Given the description of an element on the screen output the (x, y) to click on. 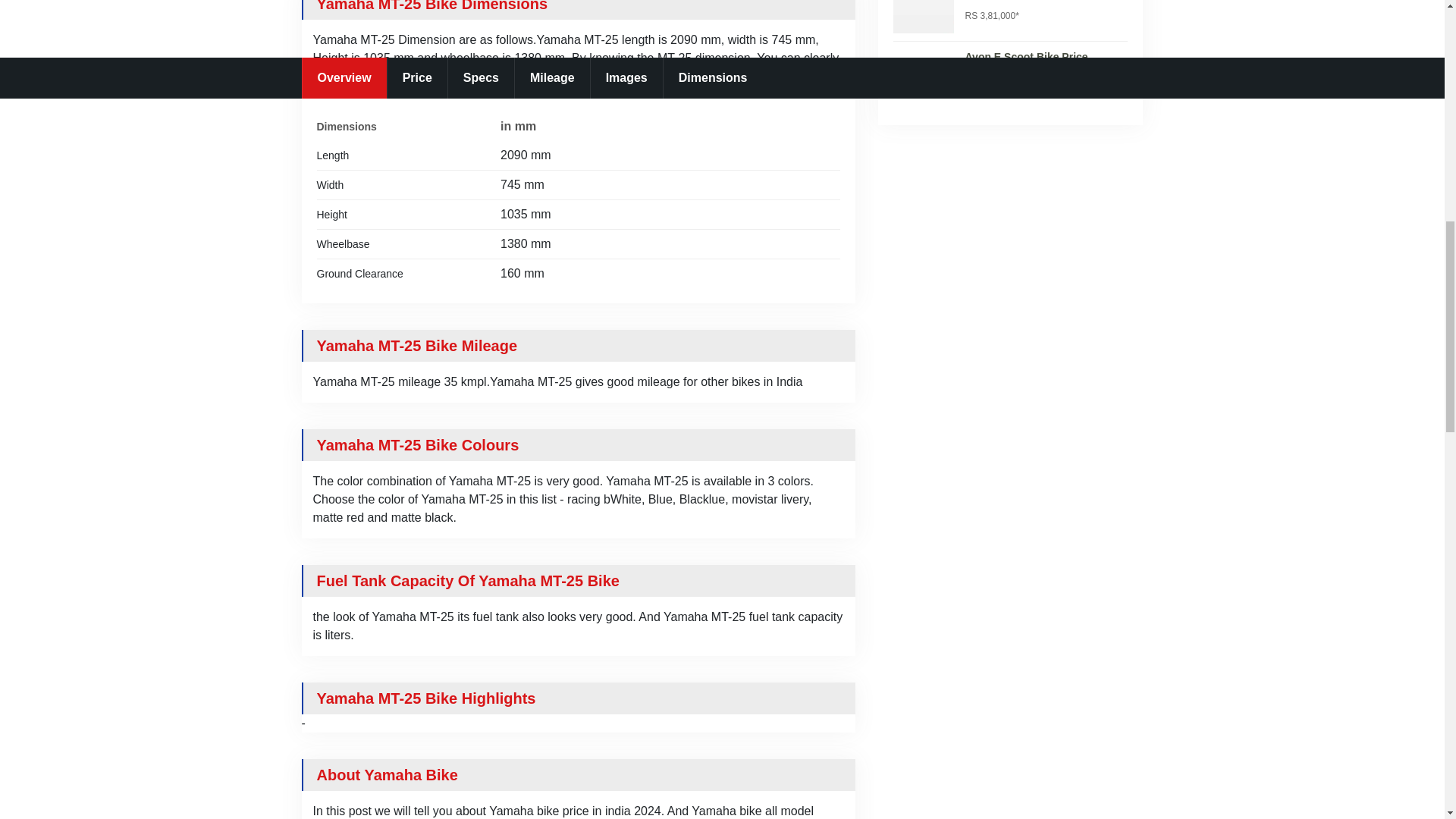
Passion Pro Drum - BS VI Bike Price (1044, 2)
SEND (722, 632)
Avon E Scoot Bike Price (1025, 57)
